Given the description of an element on the screen output the (x, y) to click on. 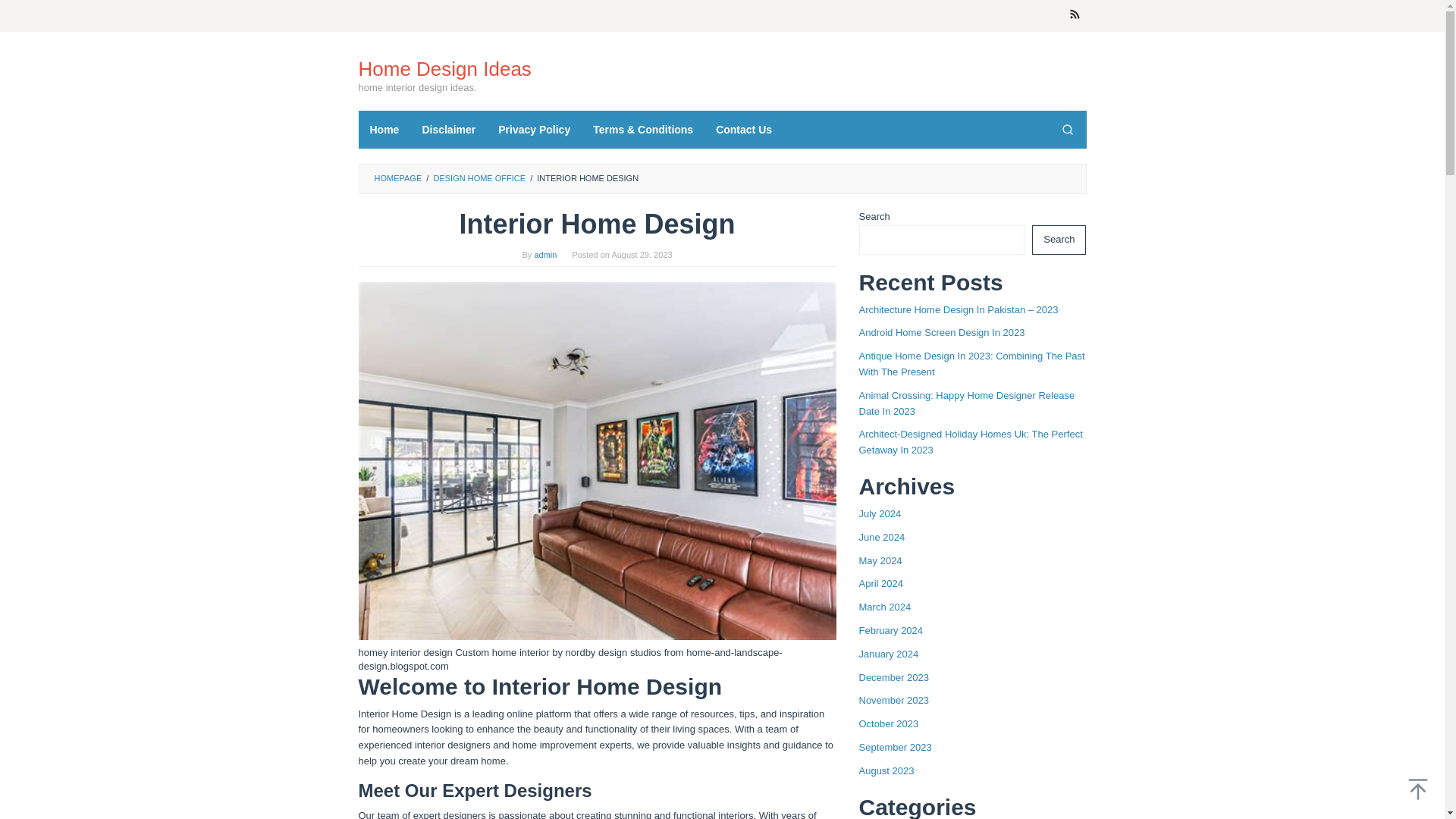
June 2024 (881, 536)
Privacy Policy (533, 129)
Home Design Ideas (444, 68)
HOMEPAGE (398, 177)
July 2024 (880, 513)
April 2024 (880, 583)
Contact Us (743, 129)
admin (545, 254)
Home (384, 129)
Home Design Ideas (444, 68)
Animal Crossing: Happy Home Designer Release Date In 2023 (966, 402)
Search (1059, 239)
DESIGN HOME OFFICE (478, 177)
February 2024 (891, 630)
